Given the description of an element on the screen output the (x, y) to click on. 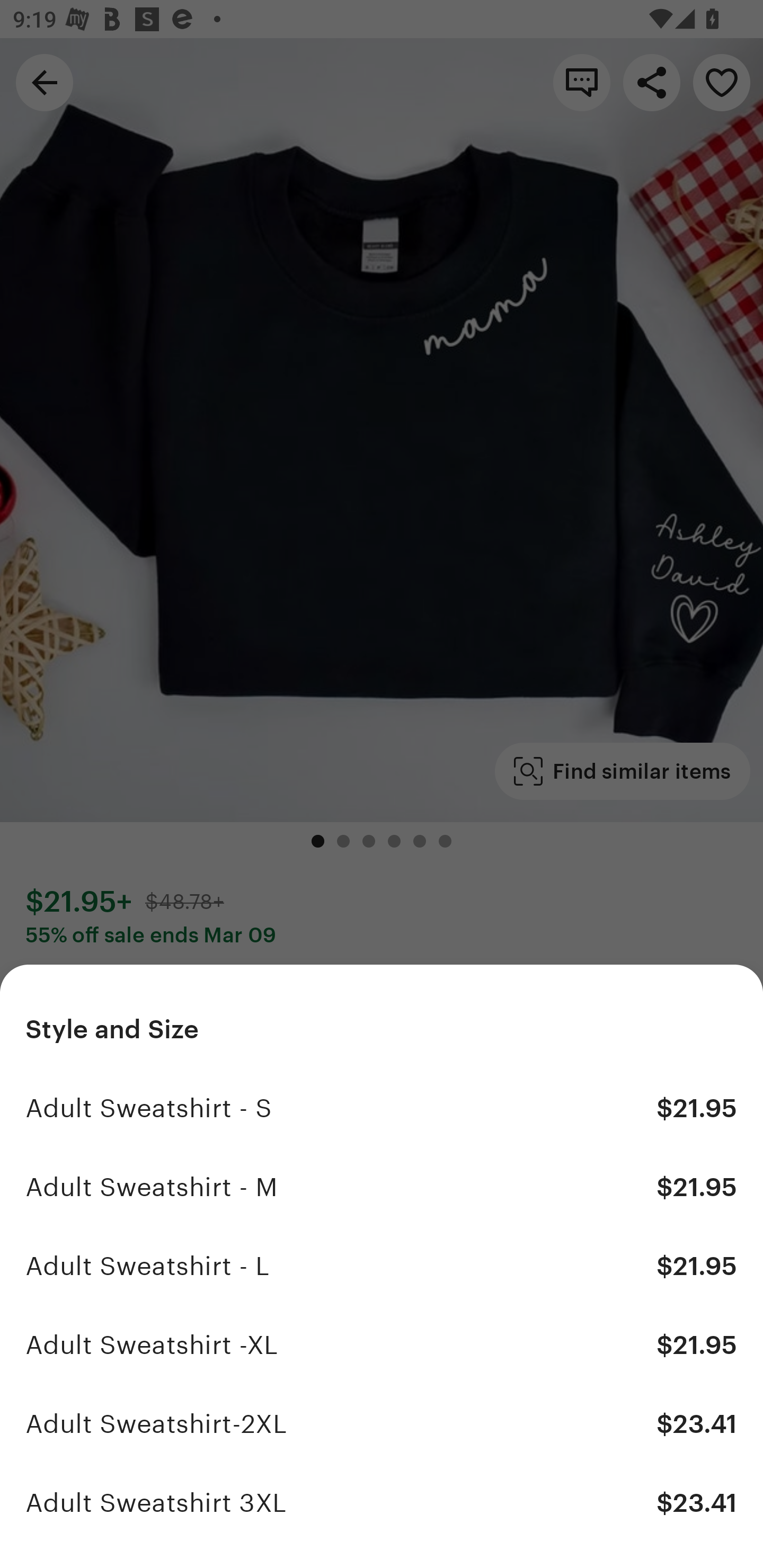
Adult Sweatshirt - S $21.95 (381, 1108)
Adult Sweatshirt - M $21.95 (381, 1186)
Adult Sweatshirt - L $21.95 (381, 1266)
Adult Sweatshirt -XL $21.95 (381, 1345)
Adult Sweatshirt-2XL $23.41 (381, 1423)
Adult Sweatshirt 3XL $23.41 (381, 1502)
